Given the description of an element on the screen output the (x, y) to click on. 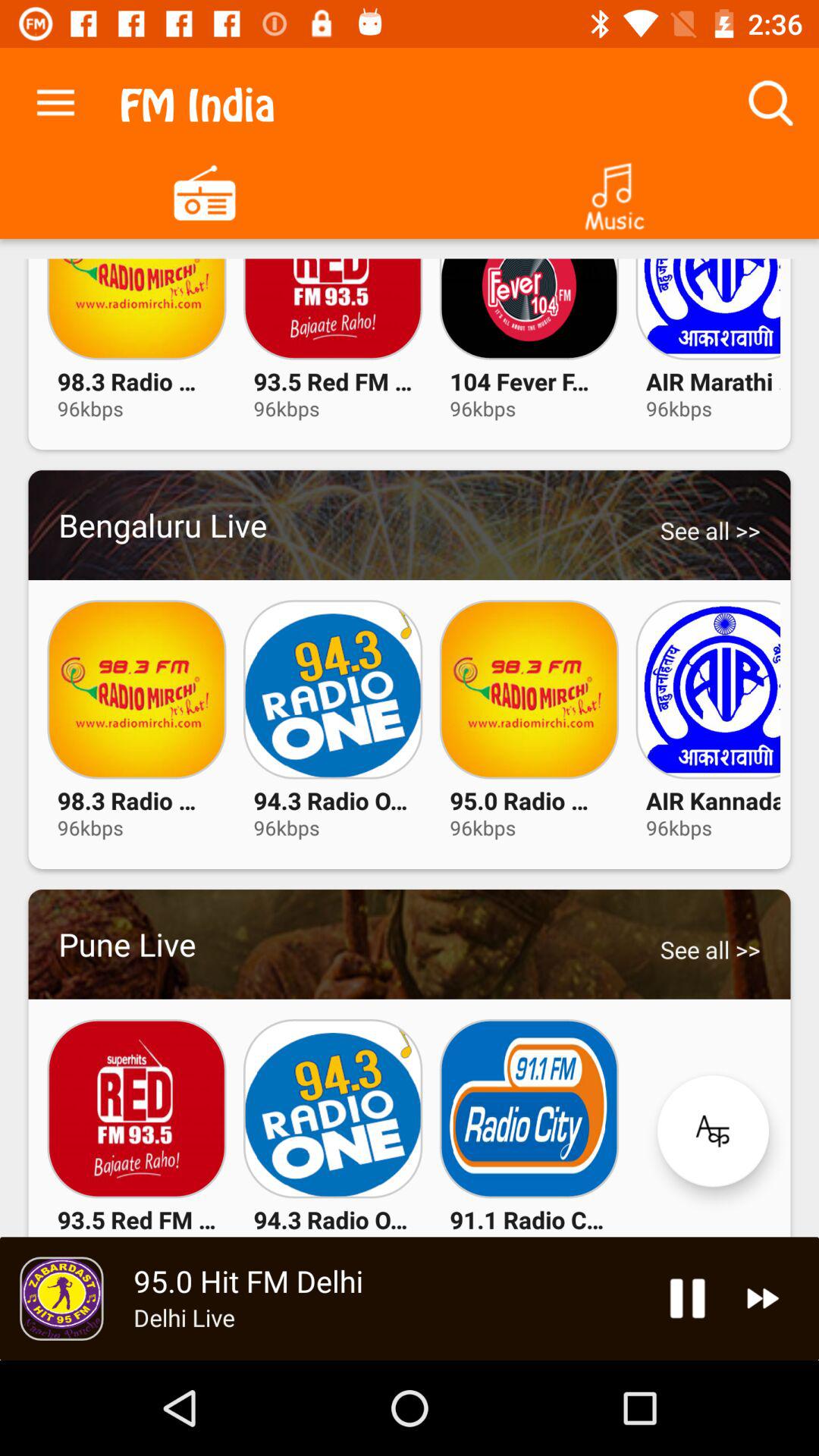
see more (712, 1130)
